Given the description of an element on the screen output the (x, y) to click on. 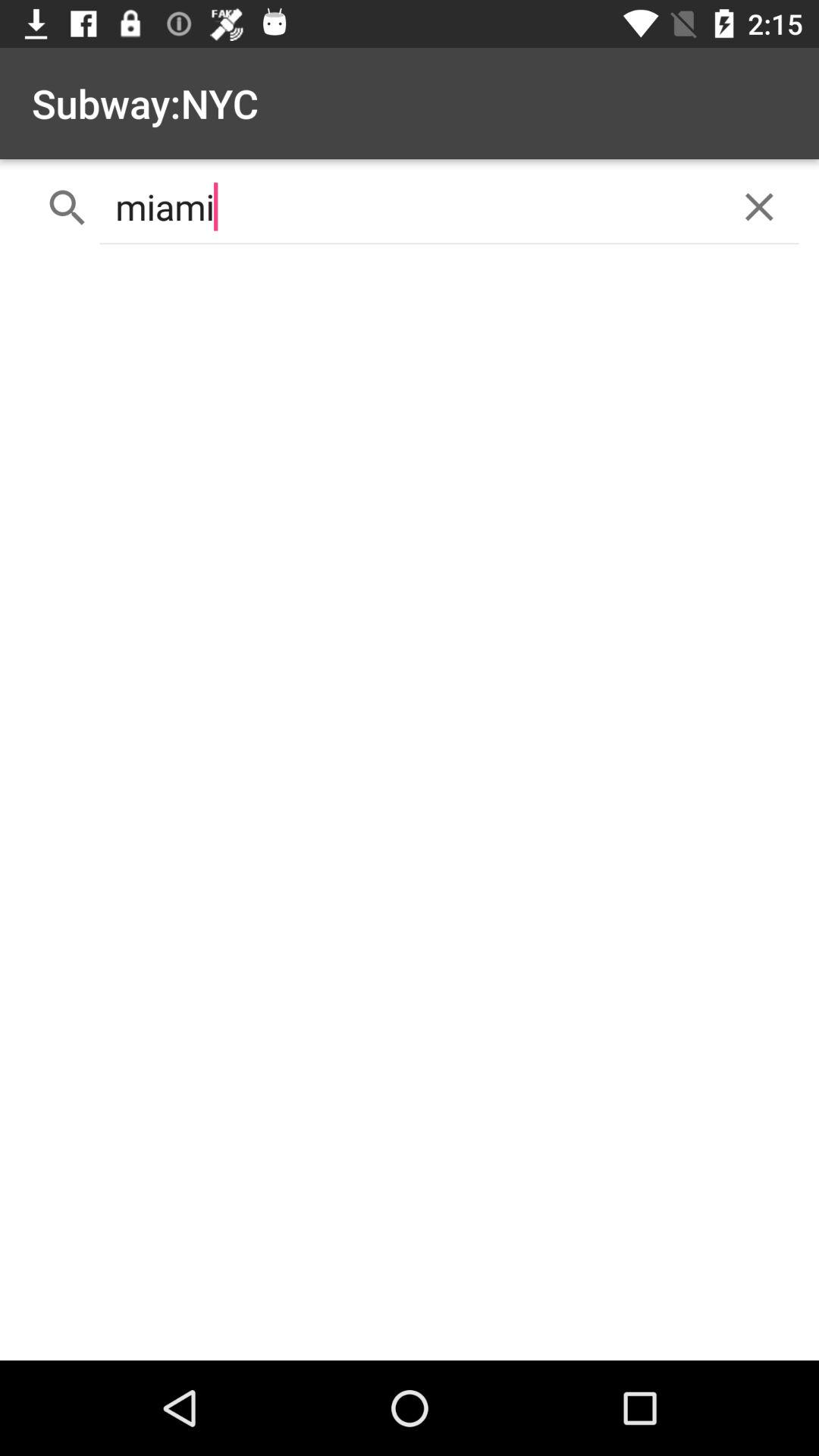
click item to the right of the miami icon (759, 206)
